Given the description of an element on the screen output the (x, y) to click on. 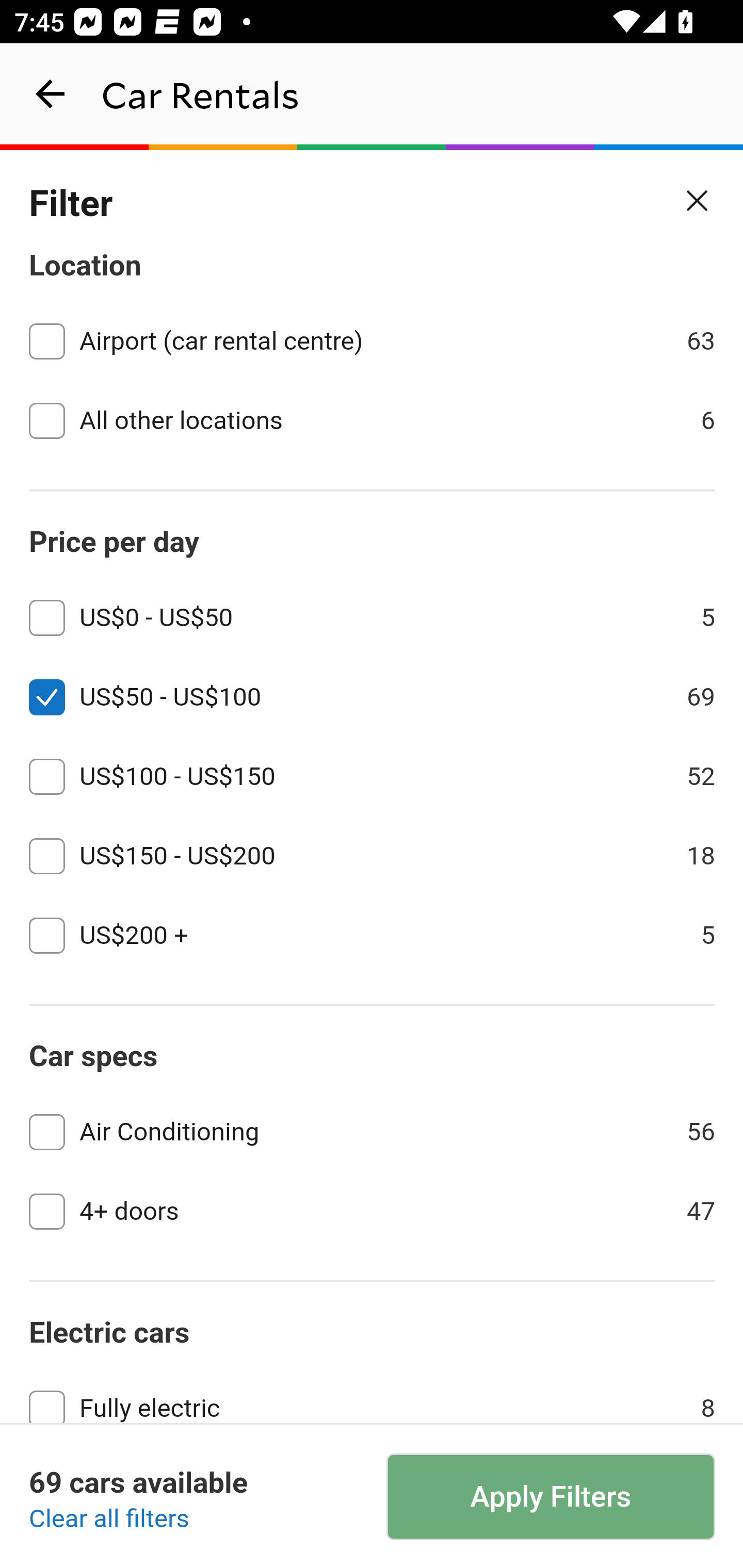
navigation_button (50, 93)
Close (697, 201)
Clear all filters (108, 1519)
